Given the description of an element on the screen output the (x, y) to click on. 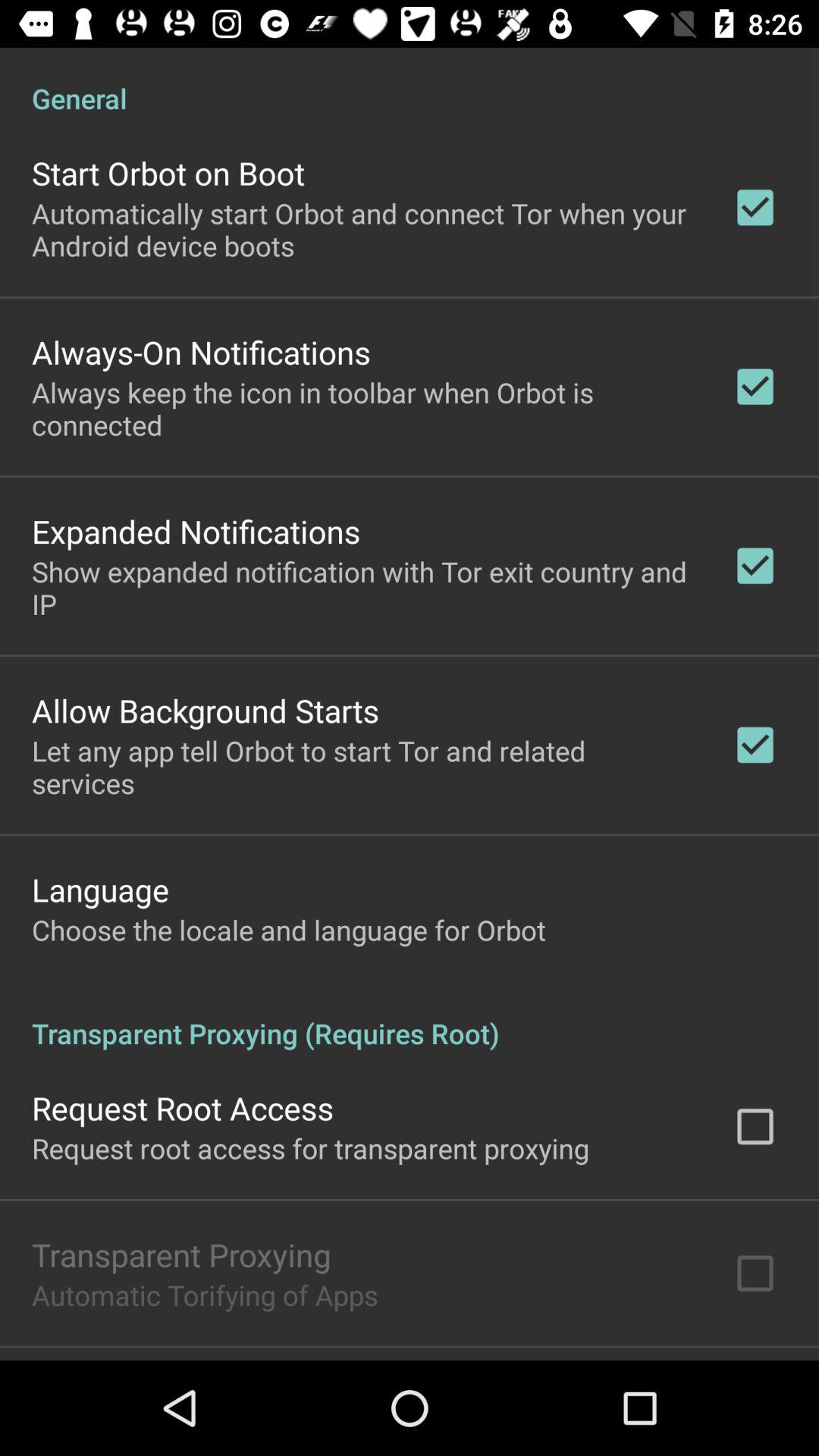
click the item above the transparent proxying requires icon (288, 929)
